Given the description of an element on the screen output the (x, y) to click on. 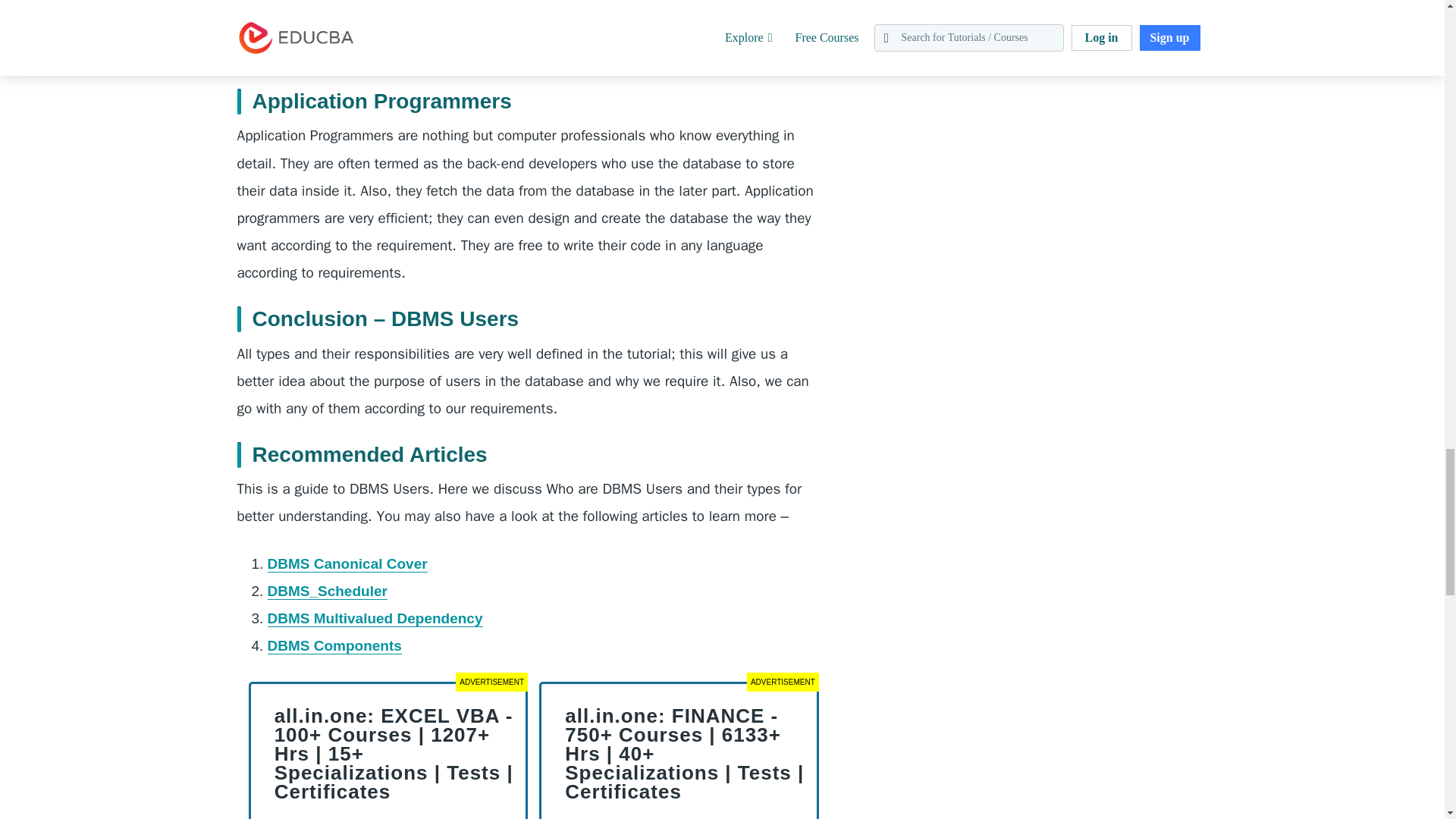
DBMS Multivalued Dependency (373, 618)
DBMS Components (333, 646)
DBMS Canonical Cover (346, 564)
